Given the description of an element on the screen output the (x, y) to click on. 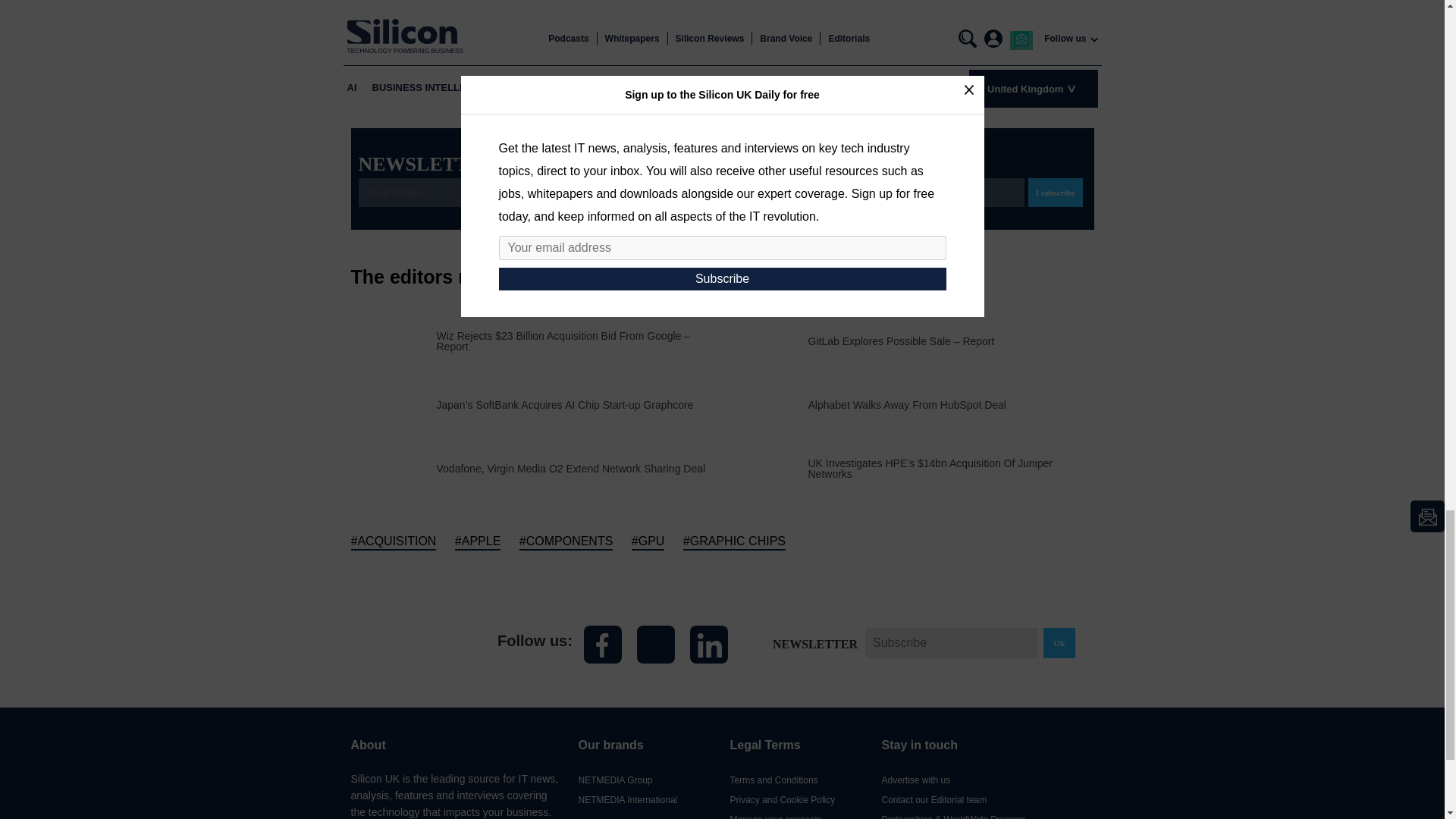
Silicon UK (408, 644)
Vodafone, Virgin Media O2 Extend Network Sharing Deal (571, 467)
Alphabet Walks Away From HubSpot Deal (907, 403)
